Given the description of an element on the screen output the (x, y) to click on. 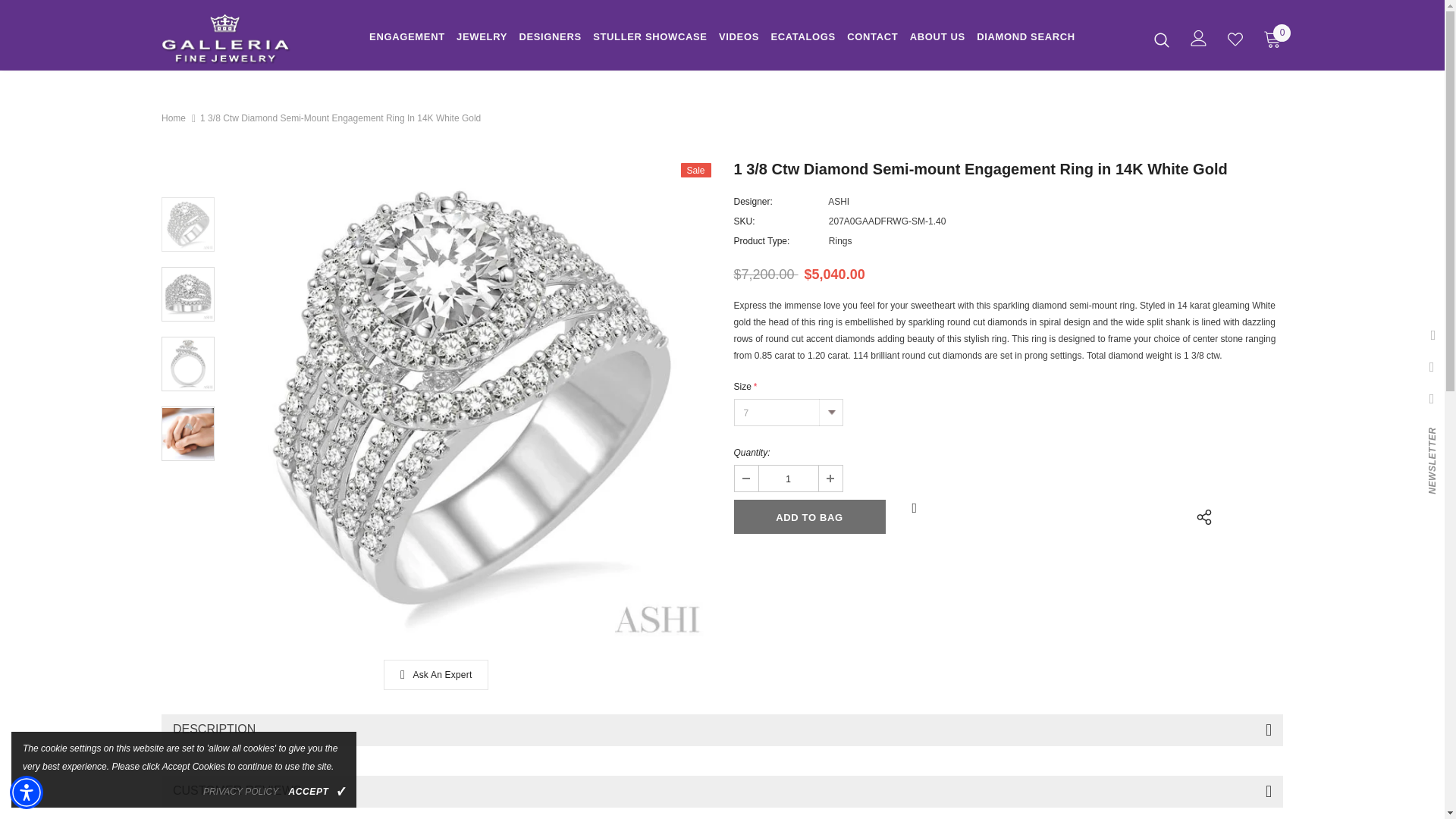
Accessibility Menu (26, 792)
ABOUT US (937, 39)
CONTACT (872, 39)
ENGAGEMENT (407, 39)
DIAMOND SEARCH (1025, 39)
VIDEOS (738, 39)
1 (787, 478)
DESIGNERS (549, 39)
Add to Bag (809, 516)
ECATALOGS (802, 39)
STULLER SHOWCASE (649, 39)
JEWELRY (481, 39)
